Given the description of an element on the screen output the (x, y) to click on. 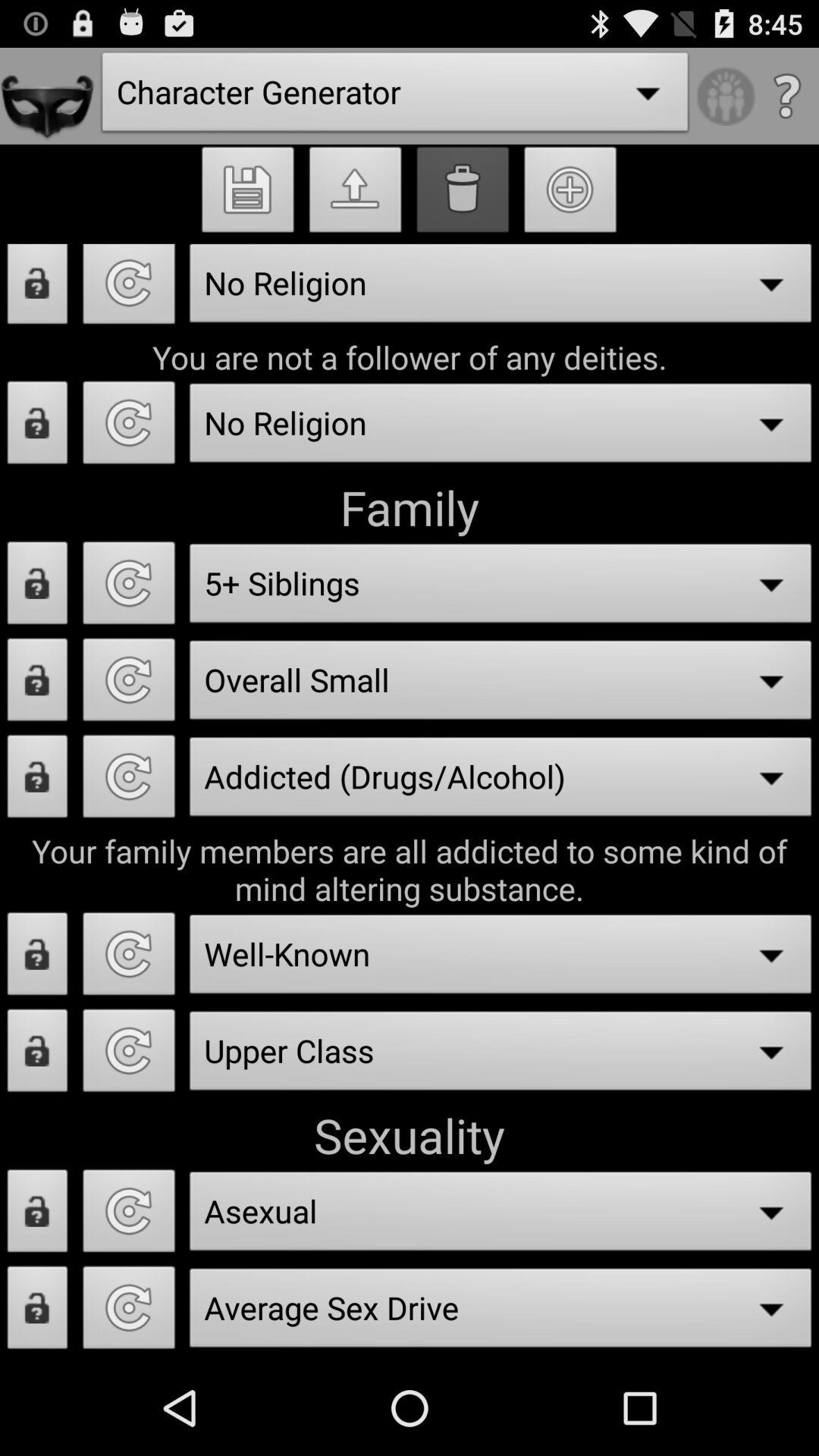
randomize (129, 426)
